Given the description of an element on the screen output the (x, y) to click on. 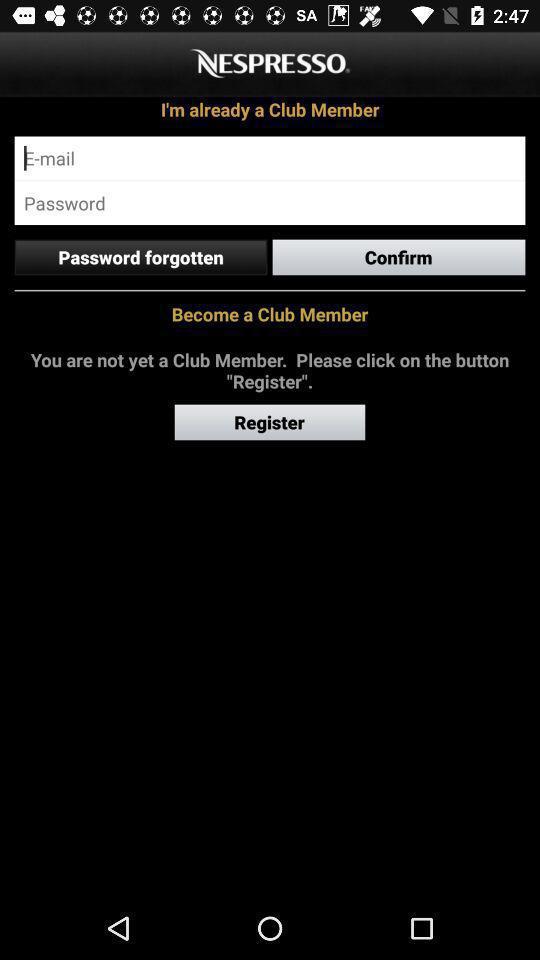
swipe to confirm (398, 257)
